Given the description of an element on the screen output the (x, y) to click on. 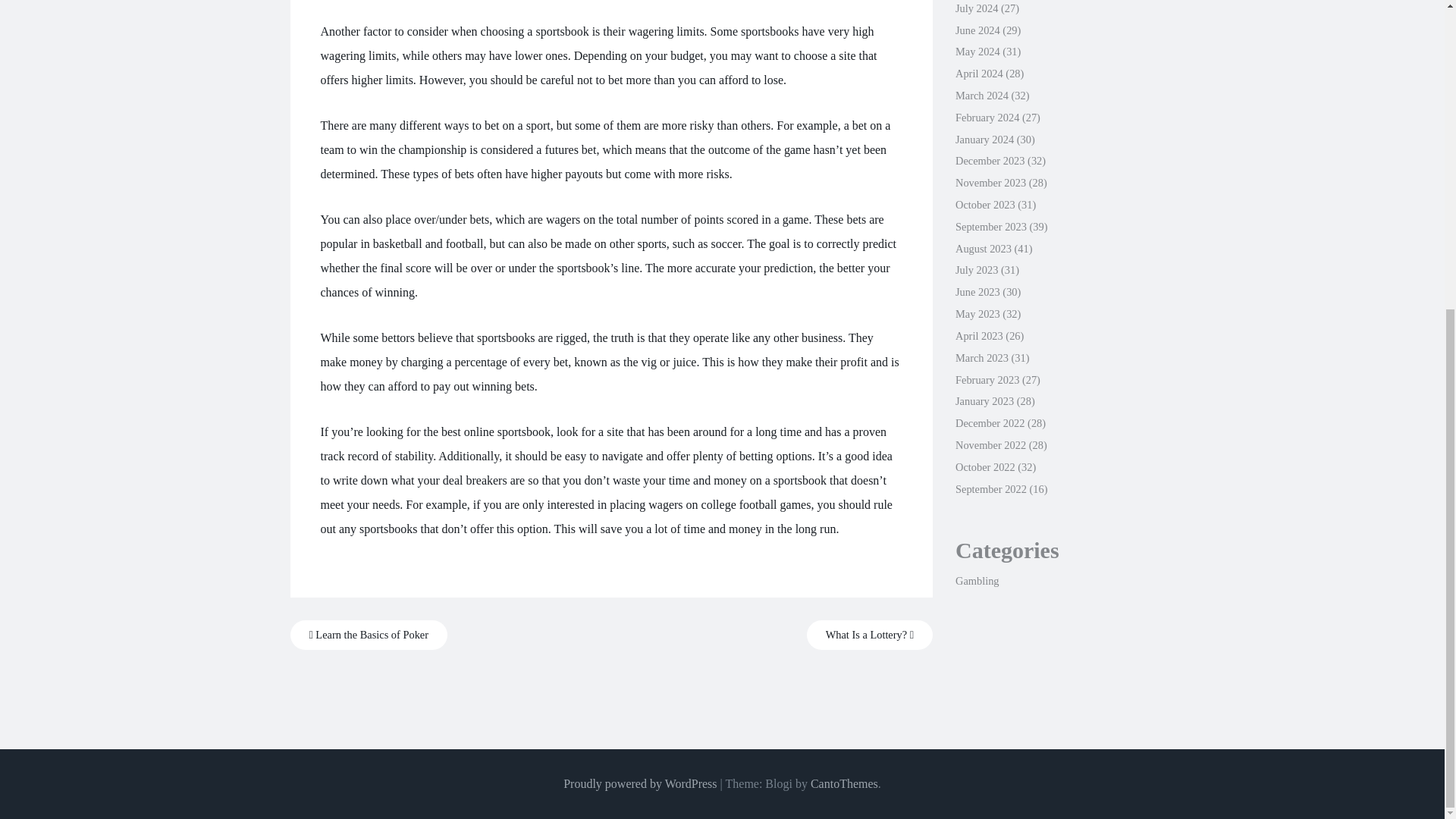
January 2023 (984, 400)
February 2024 (987, 117)
April 2024 (979, 73)
January 2024 (984, 139)
February 2023 (987, 379)
April 2023 (979, 336)
May 2023 (977, 313)
July 2024 (976, 8)
October 2022 (984, 467)
September 2023 (990, 226)
CantoThemes (843, 783)
Proudly powered by WordPress (639, 783)
July 2023 (976, 269)
December 2023 (990, 160)
November 2022 (990, 444)
